Given the description of an element on the screen output the (x, y) to click on. 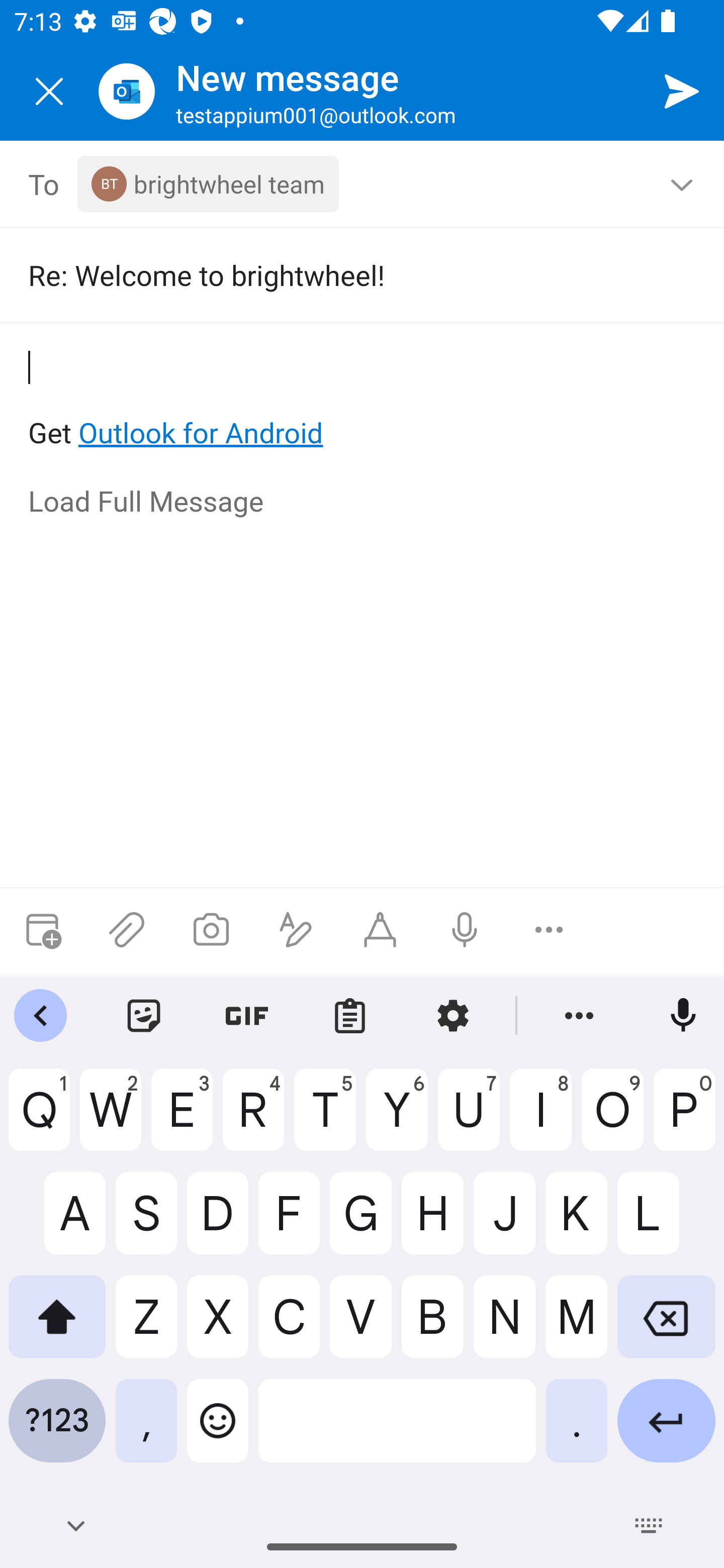
Close (49, 91)
Send (681, 90)
Re: Welcome to brightwheel! (347, 274)


Get Outlook for Android (363, 400)
Load Full Message (363, 502)
Attach meeting (42, 929)
Attach files (126, 929)
Take a photo (210, 929)
Show formatting options (295, 929)
Start Ink compose (380, 929)
Dictation (464, 929)
More options (548, 929)
